Given the description of an element on the screen output the (x, y) to click on. 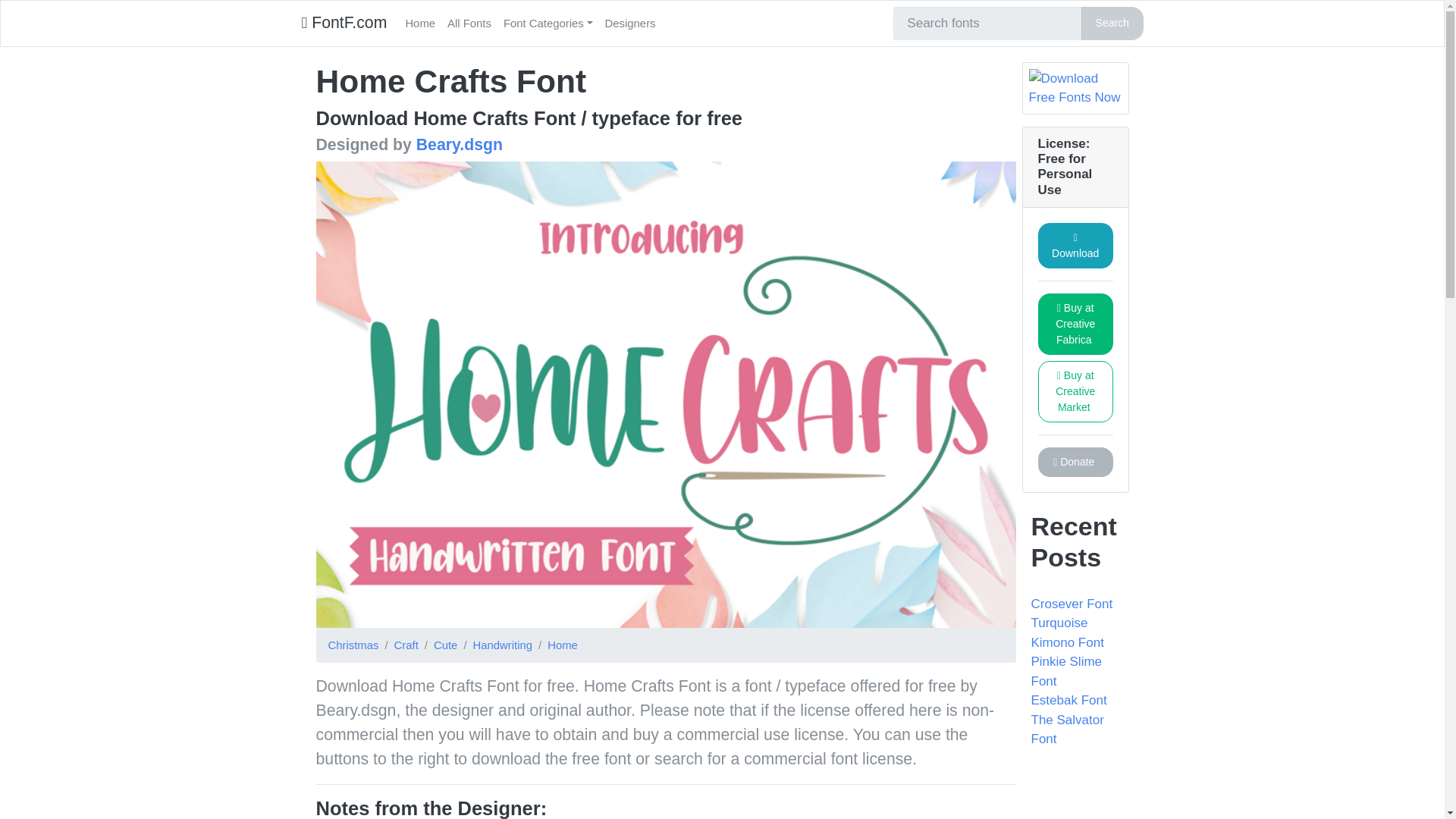
All Fonts (469, 23)
Handwriting (502, 645)
FontF.com (344, 22)
Crosever Font (1071, 603)
Home (419, 23)
Search (1111, 23)
Designers (630, 23)
Font Categories (547, 23)
Buy at Creative Fabrica (1074, 323)
Home (419, 23)
